Given the description of an element on the screen output the (x, y) to click on. 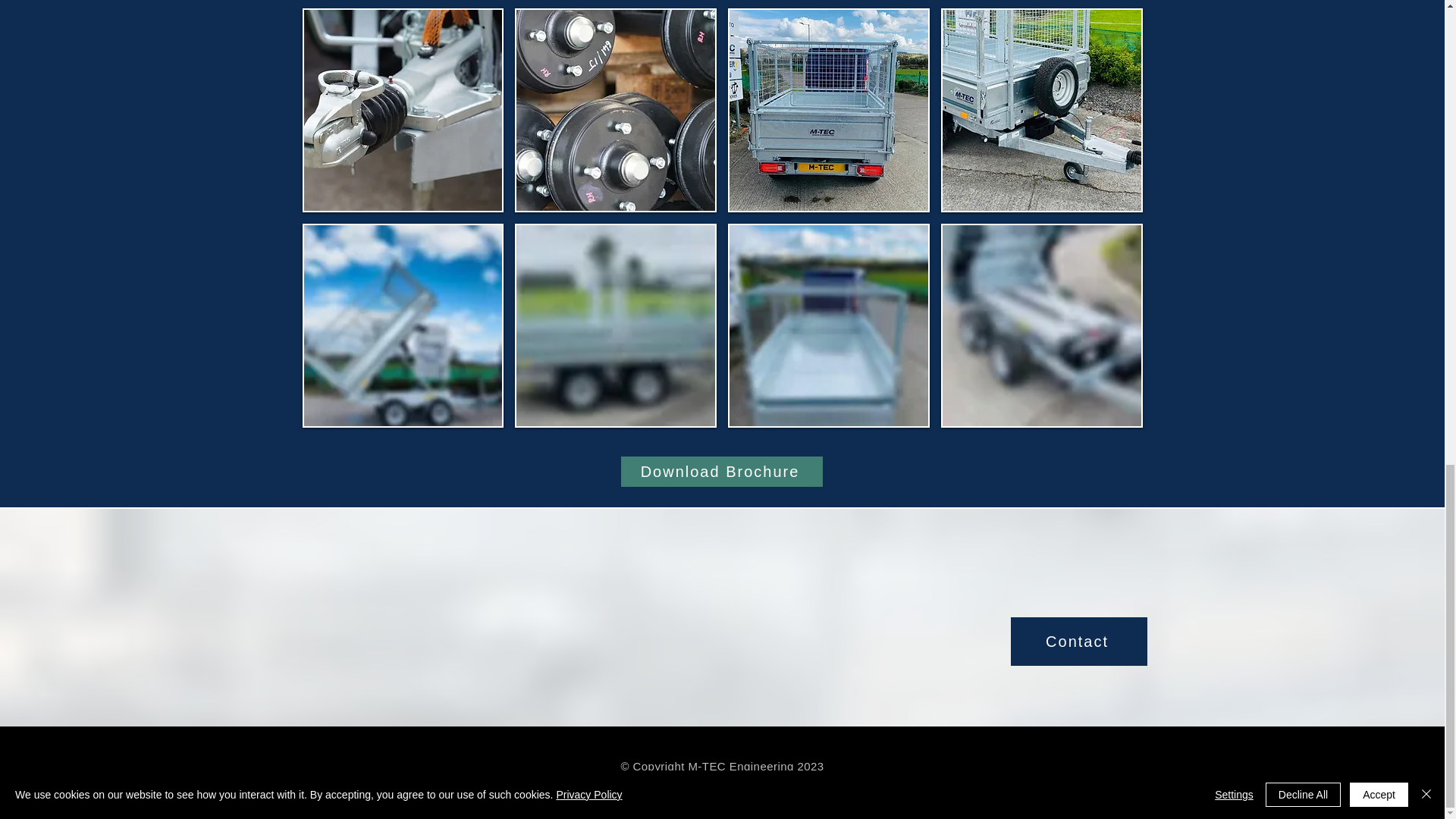
Cookie Policy (949, 789)
Privacy Policy (461, 789)
Download Brochure (721, 471)
Contact (1078, 641)
Website By Opus Web Design.ie (722, 811)
